Given the description of an element on the screen output the (x, y) to click on. 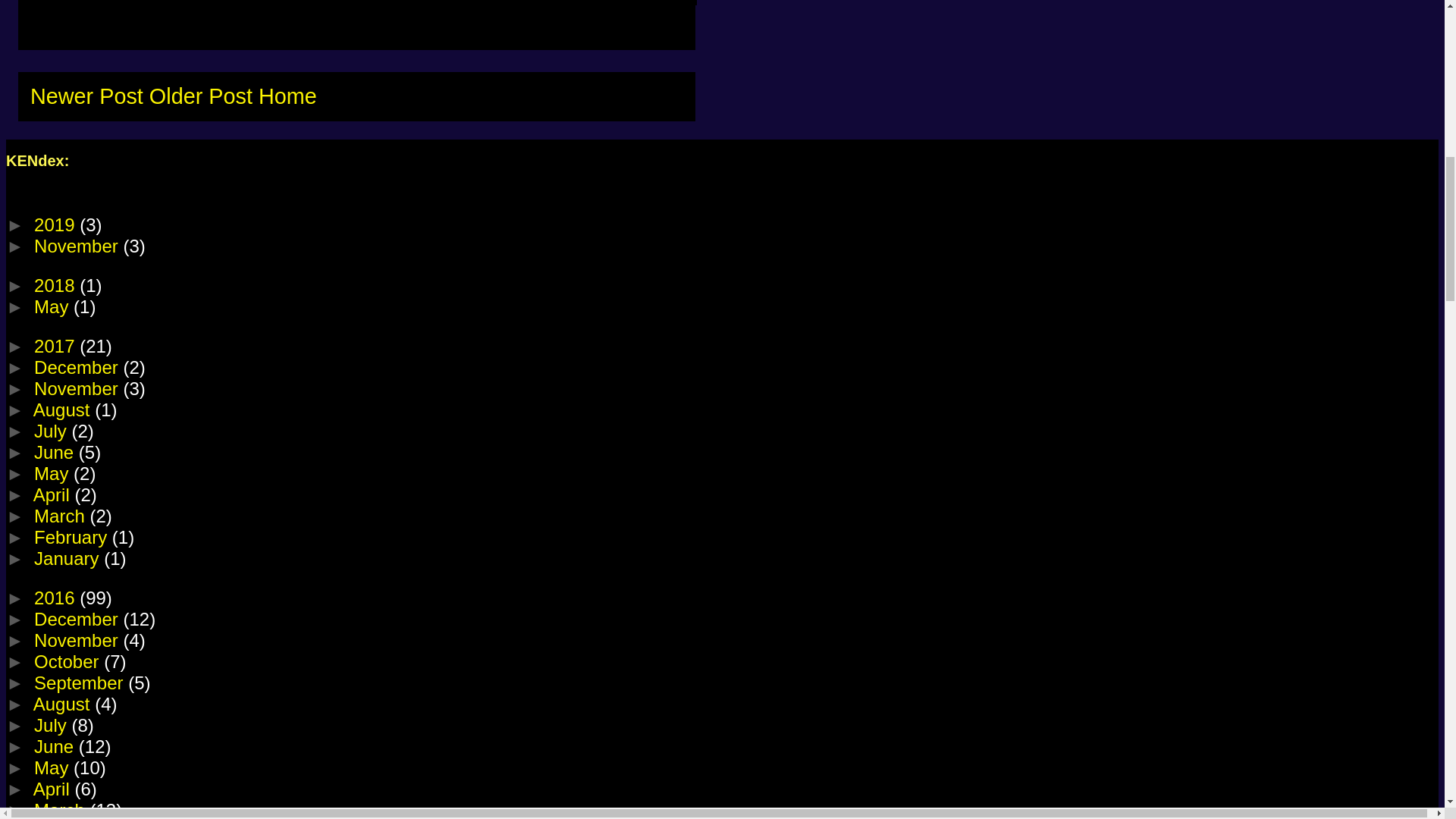
Older Post (200, 96)
December (77, 367)
2018 (56, 285)
March (60, 516)
May (53, 473)
May (53, 306)
July (52, 430)
February (72, 537)
June (55, 452)
November (77, 388)
Home (288, 96)
2017 (56, 345)
Older Post (200, 96)
January (68, 557)
November (77, 245)
